Given the description of an element on the screen output the (x, y) to click on. 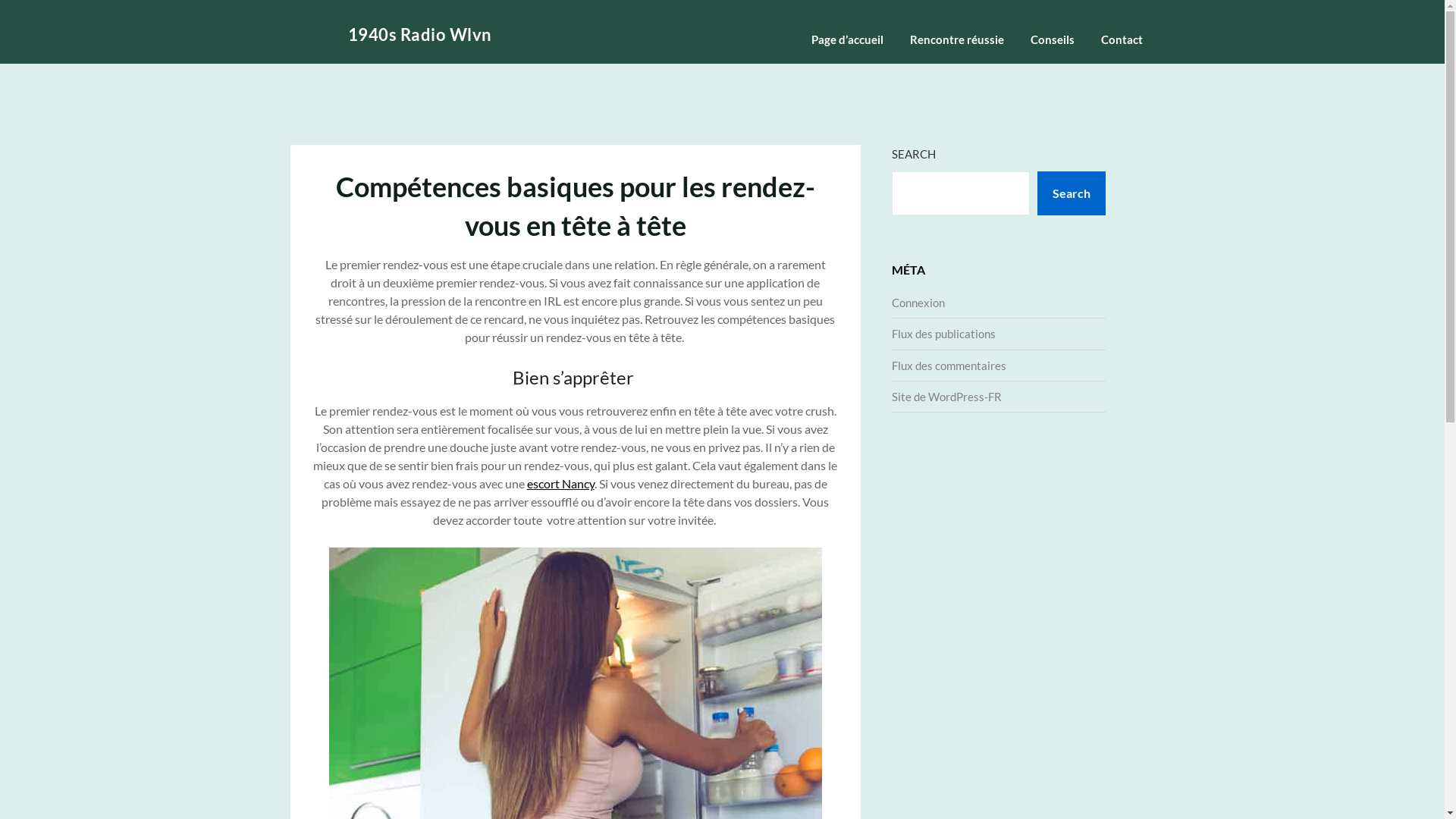
Contact Element type: text (1121, 39)
Connexion Element type: text (917, 302)
Conseils Element type: text (1051, 39)
Flux des publications Element type: text (943, 333)
Flux des commentaires Element type: text (948, 365)
Search Element type: text (1071, 193)
1940s Radio Wlvn Element type: text (419, 34)
Site de WordPress-FR Element type: text (946, 396)
escort Nancy Element type: text (560, 483)
